Given the description of an element on the screen output the (x, y) to click on. 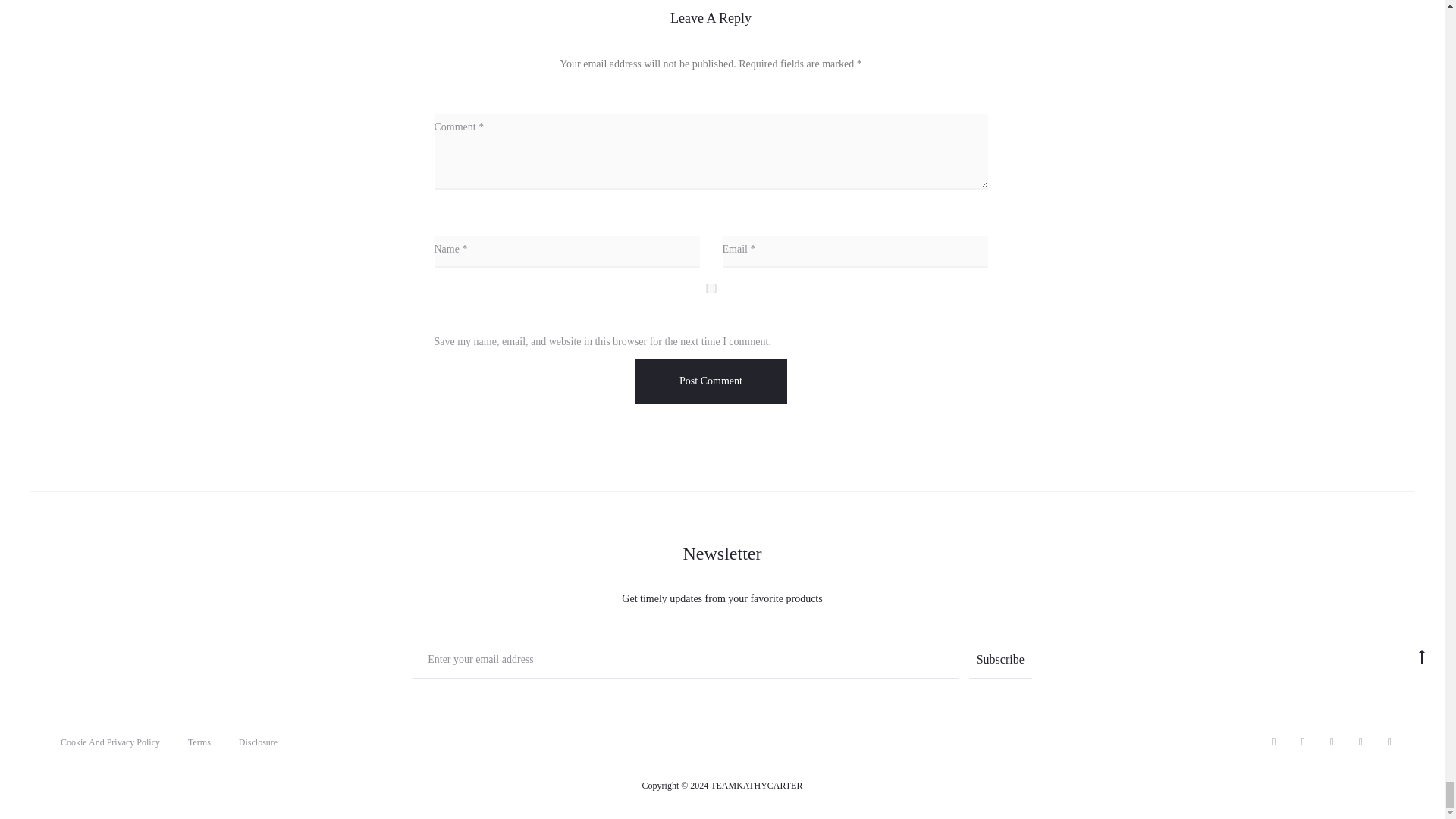
Post Comment (710, 381)
Subscribe (1000, 660)
yes (710, 288)
